Given the description of an element on the screen output the (x, y) to click on. 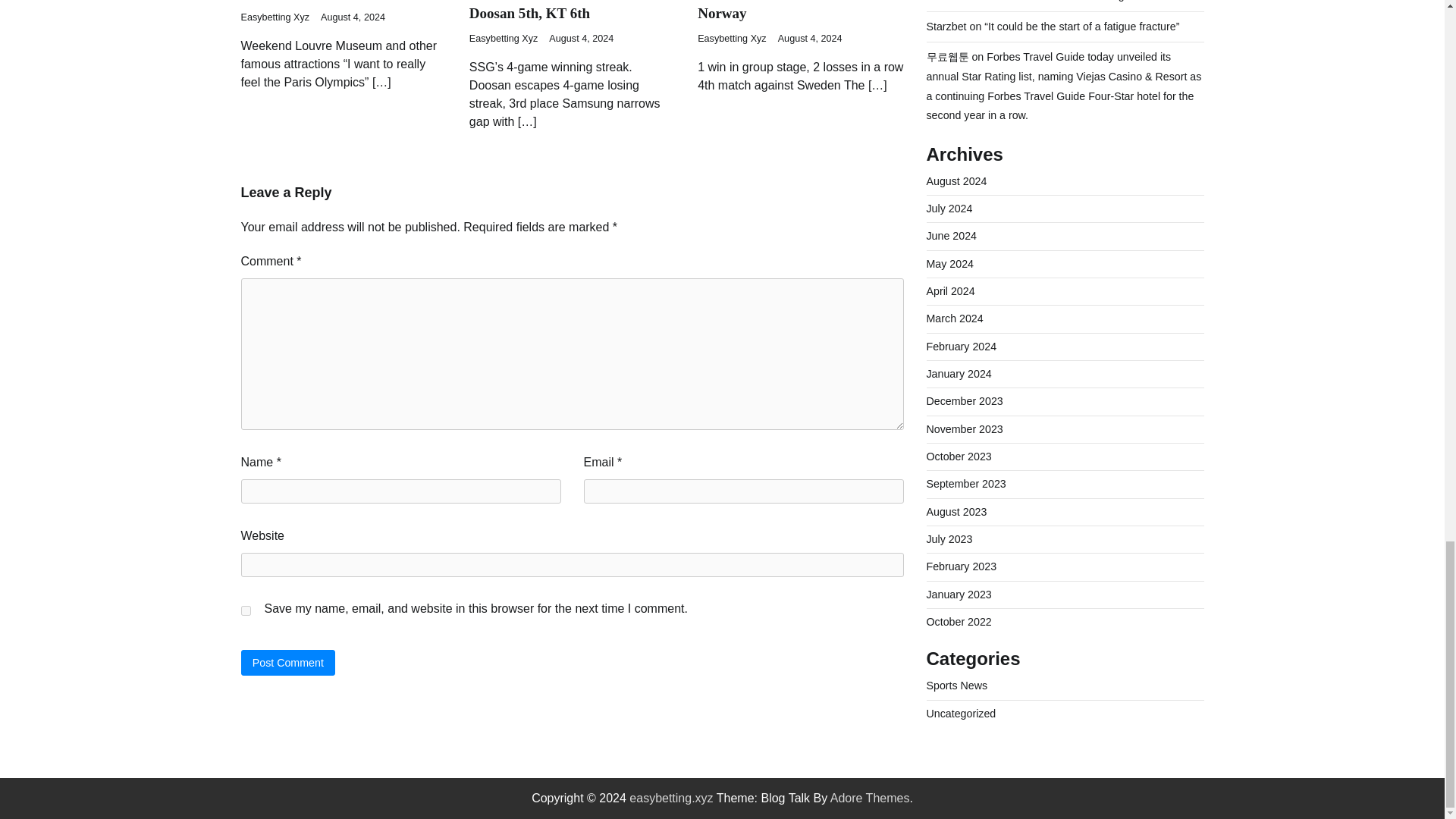
yes (245, 610)
Easybetting Xyz (503, 38)
Easybetting Xyz (275, 17)
Easybetting Xyz (732, 38)
Post Comment (288, 662)
Post Comment (288, 662)
